Given the description of an element on the screen output the (x, y) to click on. 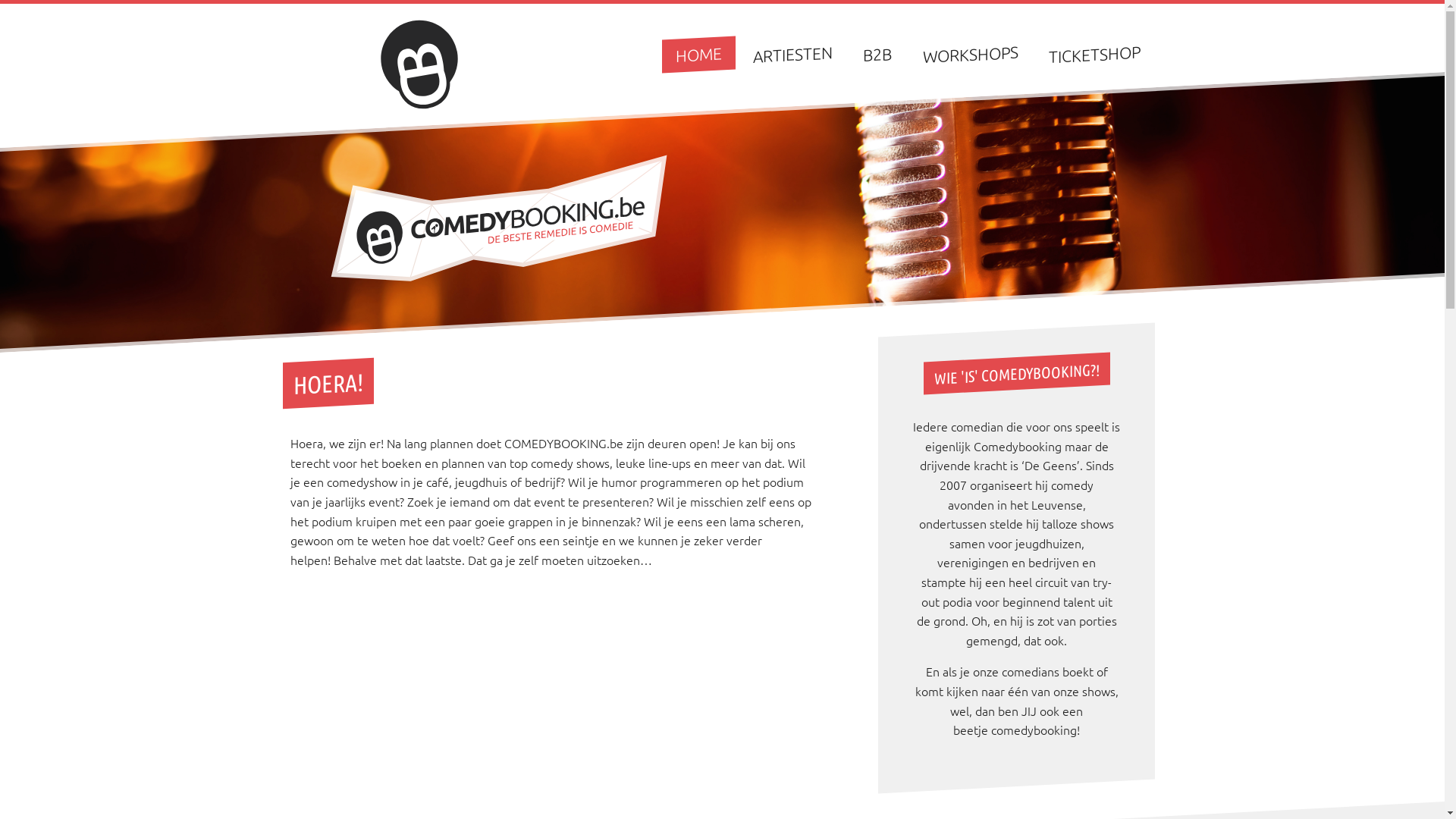
WORKSHOPS Element type: text (970, 51)
ARTIESTEN Element type: text (792, 51)
TICKETSHOP Element type: text (1094, 51)
HOME Element type: text (698, 52)
B2B Element type: text (877, 52)
